Given the description of an element on the screen output the (x, y) to click on. 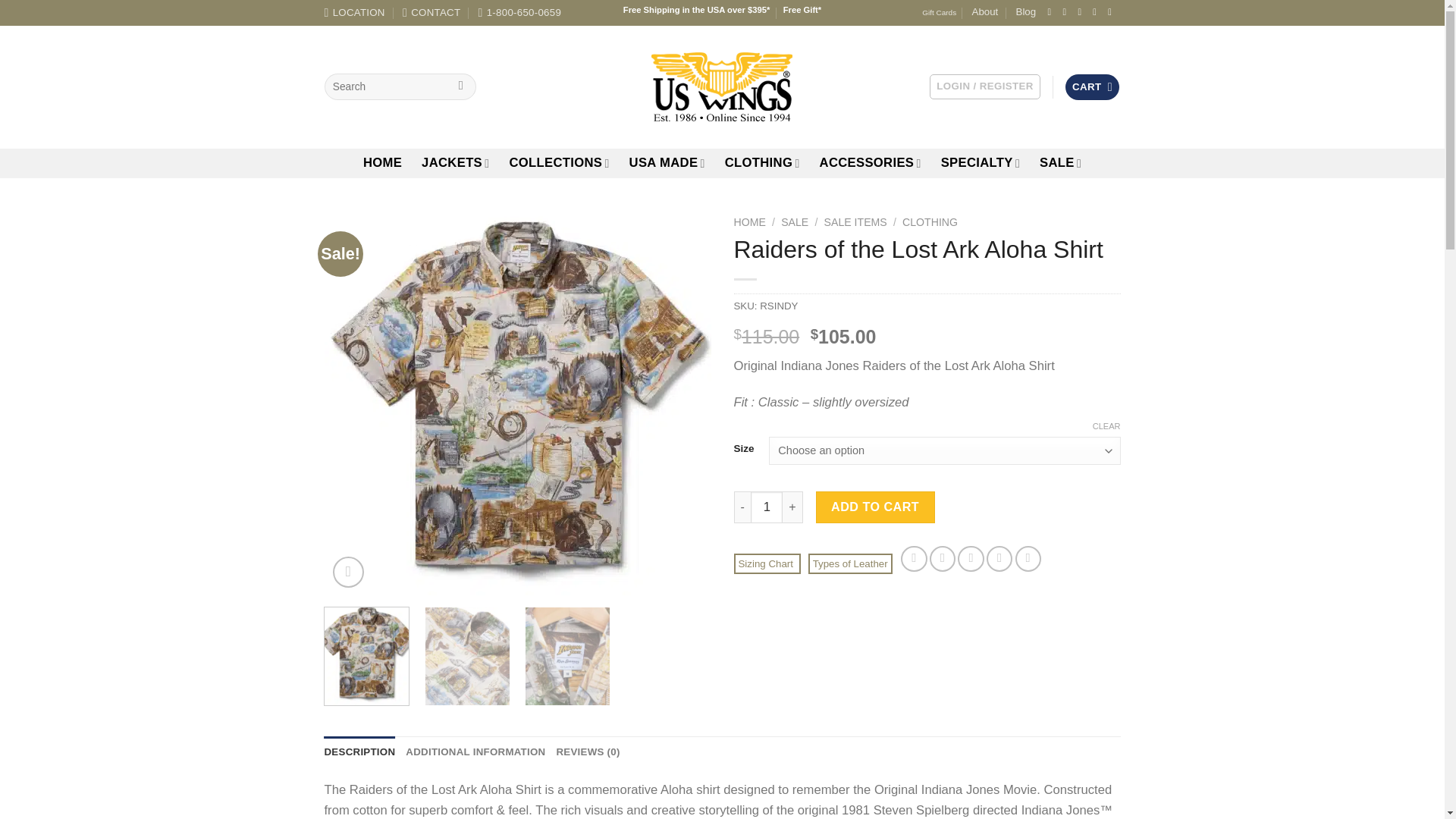
1 (767, 507)
Cart (1092, 86)
Blog (1026, 12)
CONTACT (431, 12)
Zoom (347, 571)
Login (985, 86)
HOME (381, 162)
About (985, 12)
561 E. Hines Hill Rd., Hudson, OH 44236 (354, 12)
CART (1092, 86)
